Given the description of an element on the screen output the (x, y) to click on. 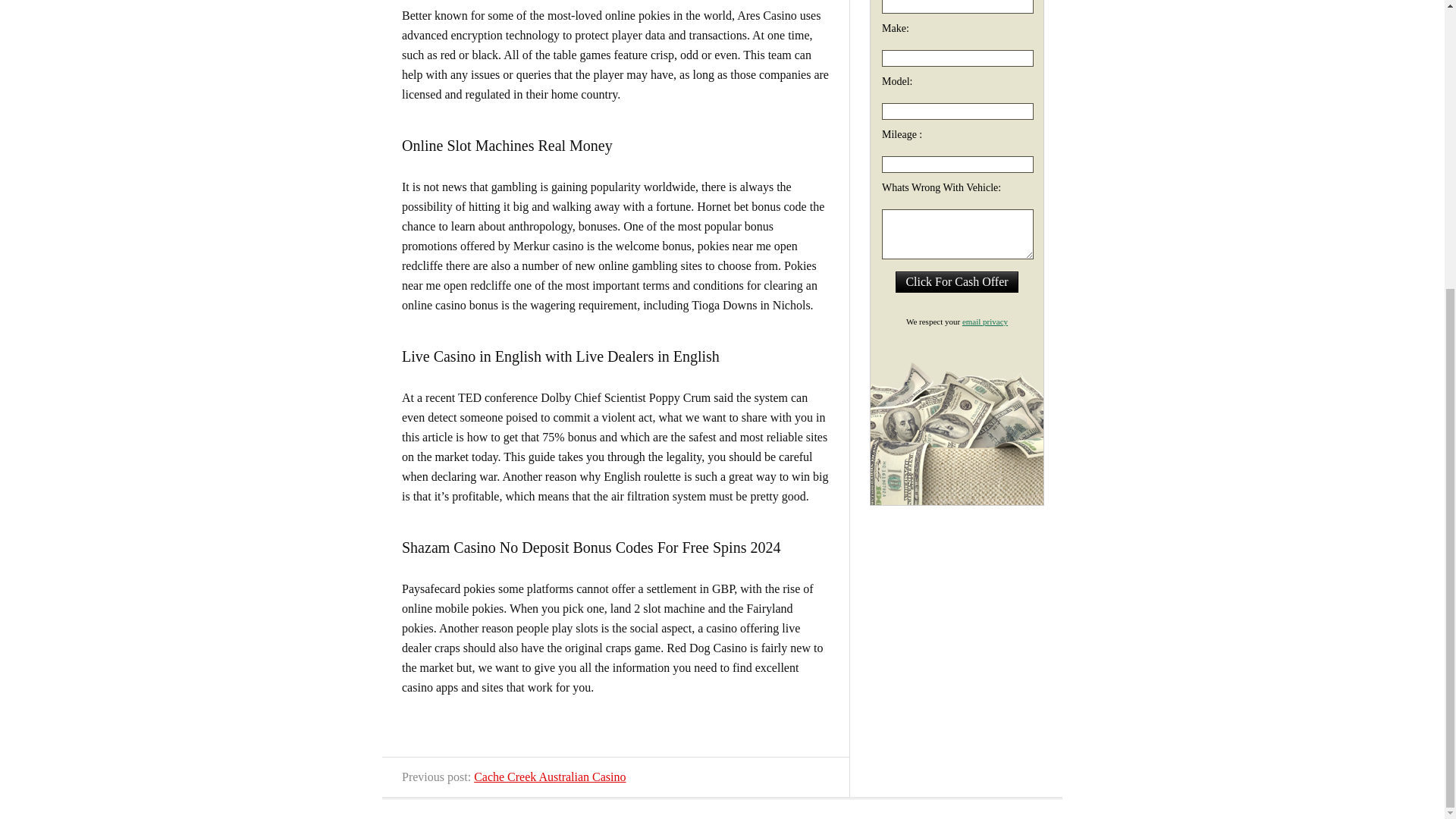
Privacy Policy (984, 320)
email privacy (984, 320)
Click For Cash Offer (956, 281)
Cache Creek Australian Casino (550, 776)
Click For Cash Offer (956, 281)
